Given the description of an element on the screen output the (x, y) to click on. 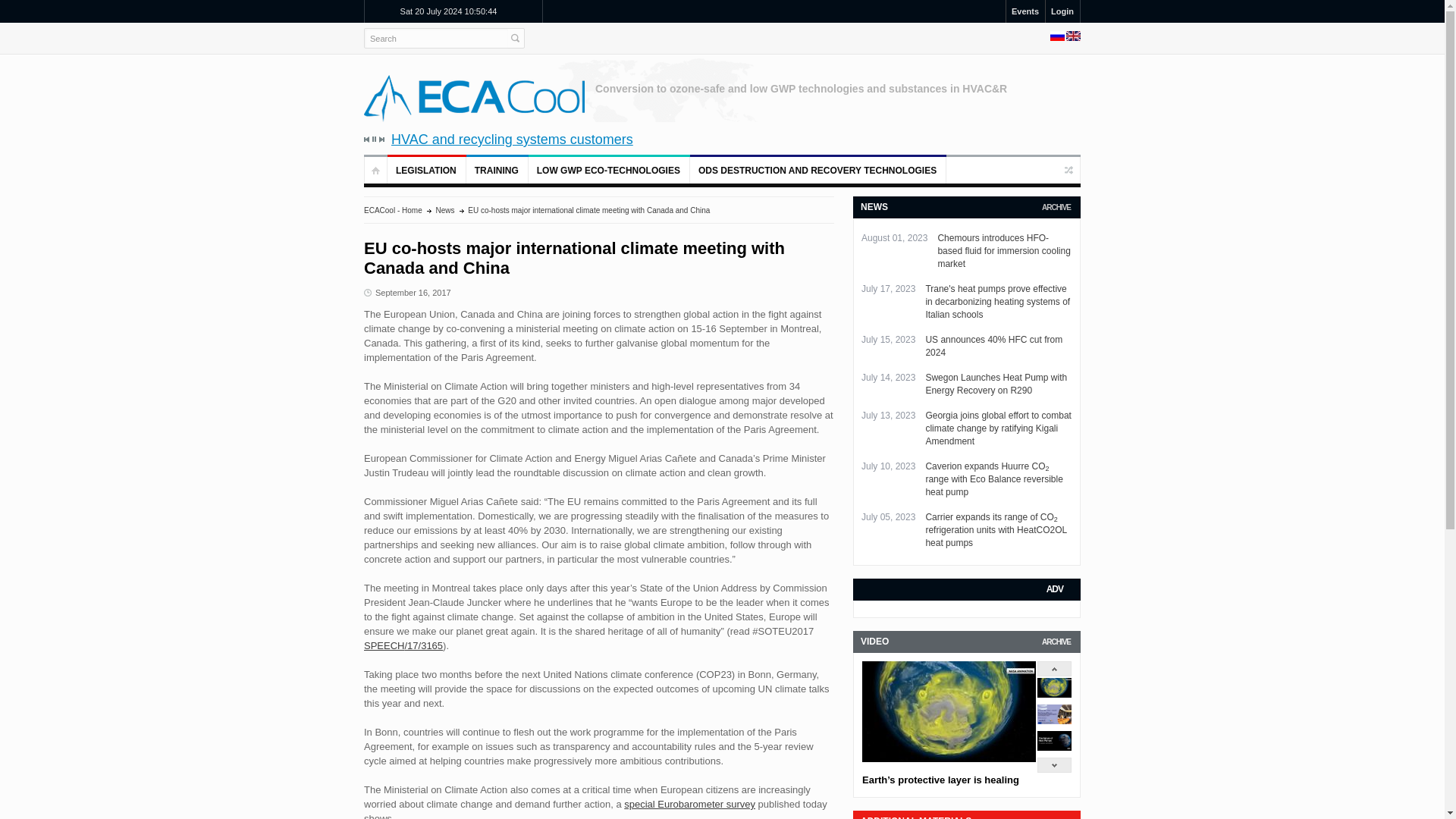
ODS DESTRUCTION AND RECOVERY TECHNOLOGIES (818, 170)
LEGISLATION (426, 170)
HVAC and recycling systems customers (749, 139)
LOW GWP ECO-TECHNOLOGIES (609, 170)
Login (1062, 10)
TRAINING (496, 170)
Events (1025, 10)
English wersion (1072, 38)
The future of heat pumps (1053, 747)
ECACool (474, 98)
Educational institutions (195, 139)
